Given the description of an element on the screen output the (x, y) to click on. 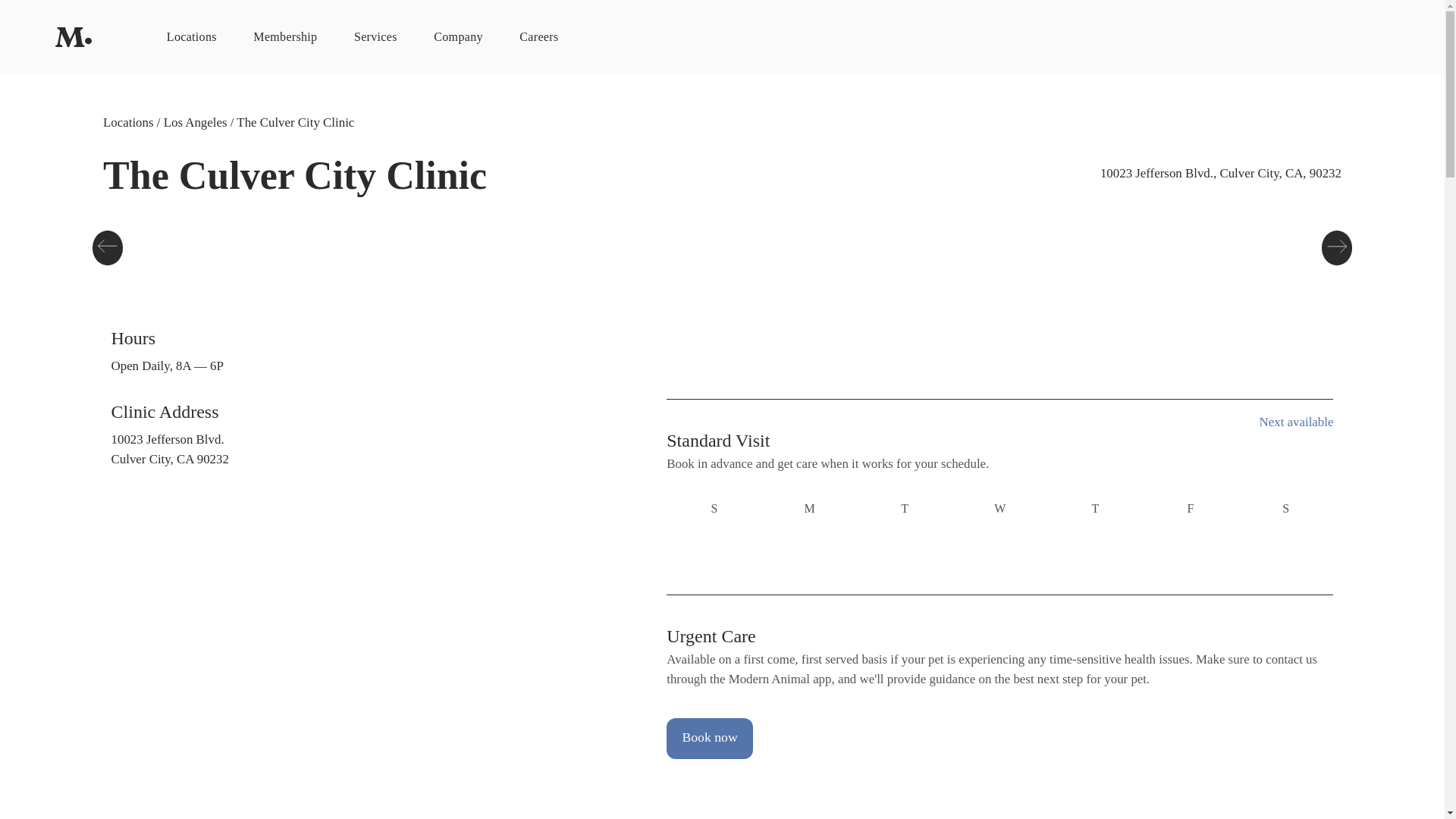
Modern Animal (74, 36)
Back (107, 247)
Book now (709, 738)
Locations (127, 123)
Los Angeles (195, 123)
Forward (1337, 247)
The Culver City Clinic (294, 123)
